Given the description of an element on the screen output the (x, y) to click on. 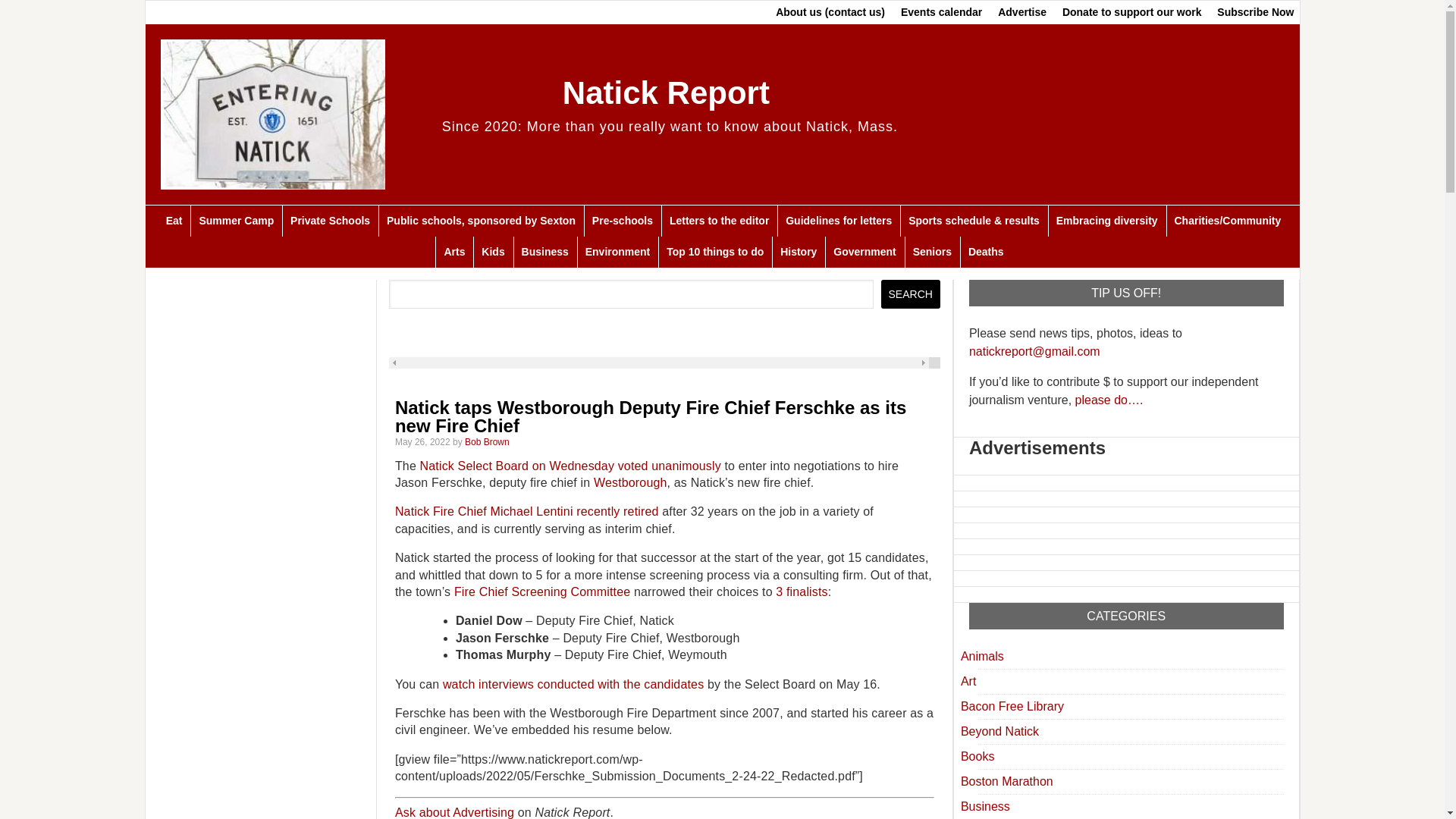
Embracing diversity (1107, 220)
Business (544, 251)
Donate to support our work (1131, 12)
Kids (492, 251)
3 finalists (801, 591)
Seniors (931, 251)
Fire Chief Screening Committee (542, 591)
Deaths (985, 251)
Natick Select Board on Wednesday voted unanimously (570, 465)
Natick Report (666, 92)
Government (863, 251)
Natick Fire Chief Michael Lentini recently retired (526, 511)
Environment (617, 251)
Top 10 things to do (714, 251)
